Given the description of an element on the screen output the (x, y) to click on. 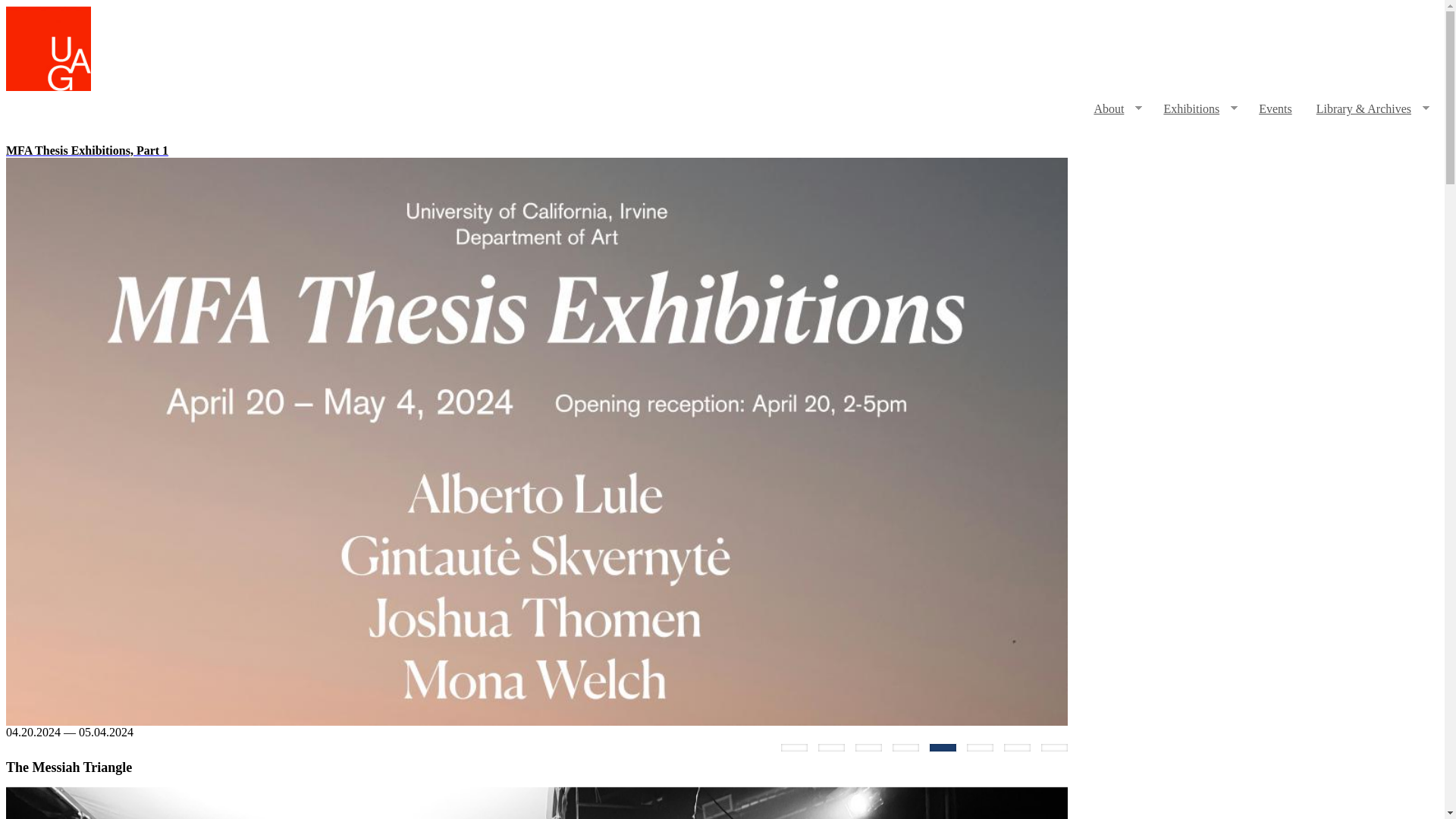
MFA Thesis Exhibitions, Part 1 (536, 151)
3 (868, 747)
Home (47, 86)
6 (980, 747)
5 (942, 747)
2 (830, 747)
4 (905, 747)
Events (1275, 109)
1 (794, 747)
